Given the description of an element on the screen output the (x, y) to click on. 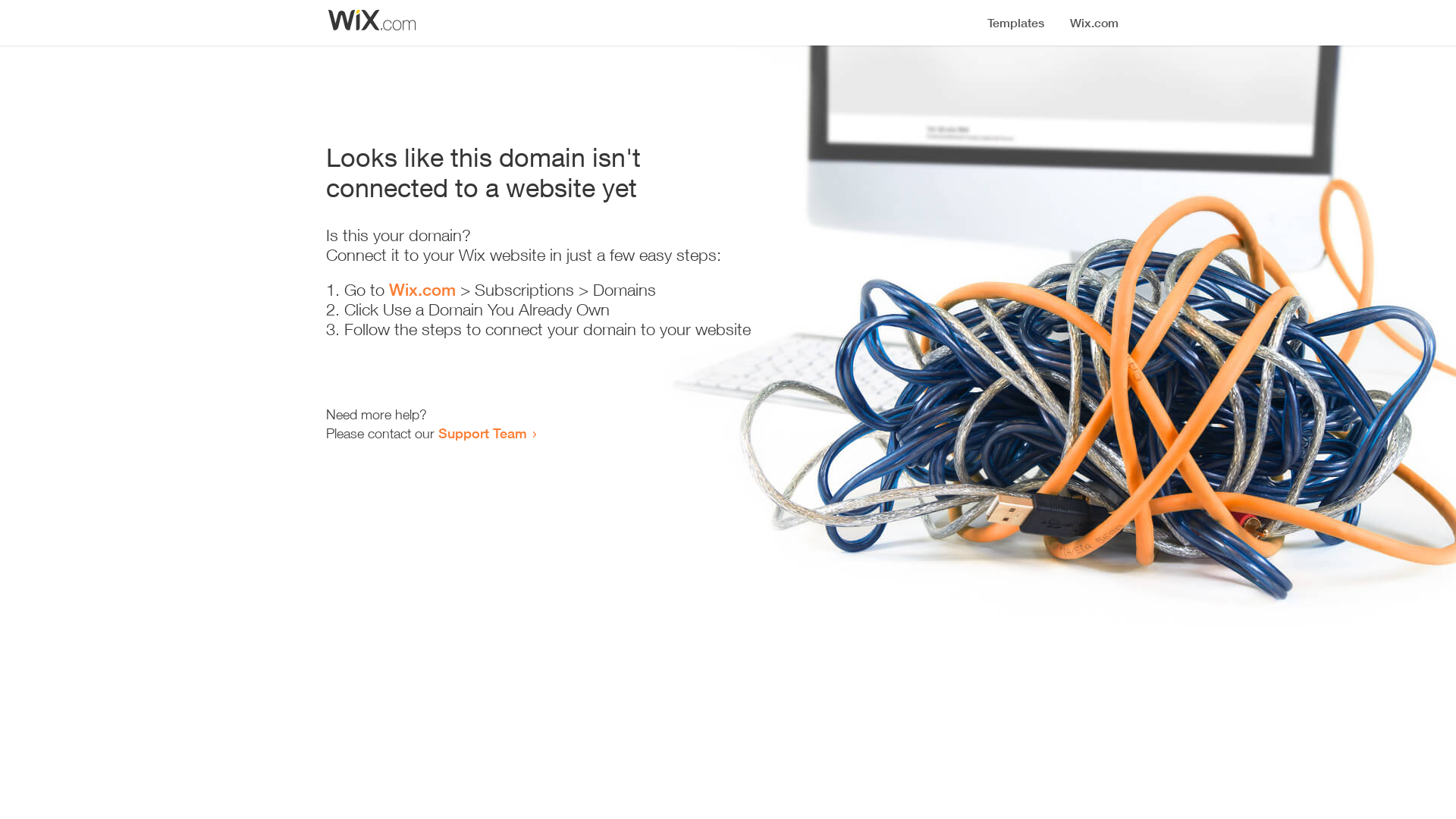
Wix.com Element type: text (422, 289)
Support Team Element type: text (482, 432)
